Given the description of an element on the screen output the (x, y) to click on. 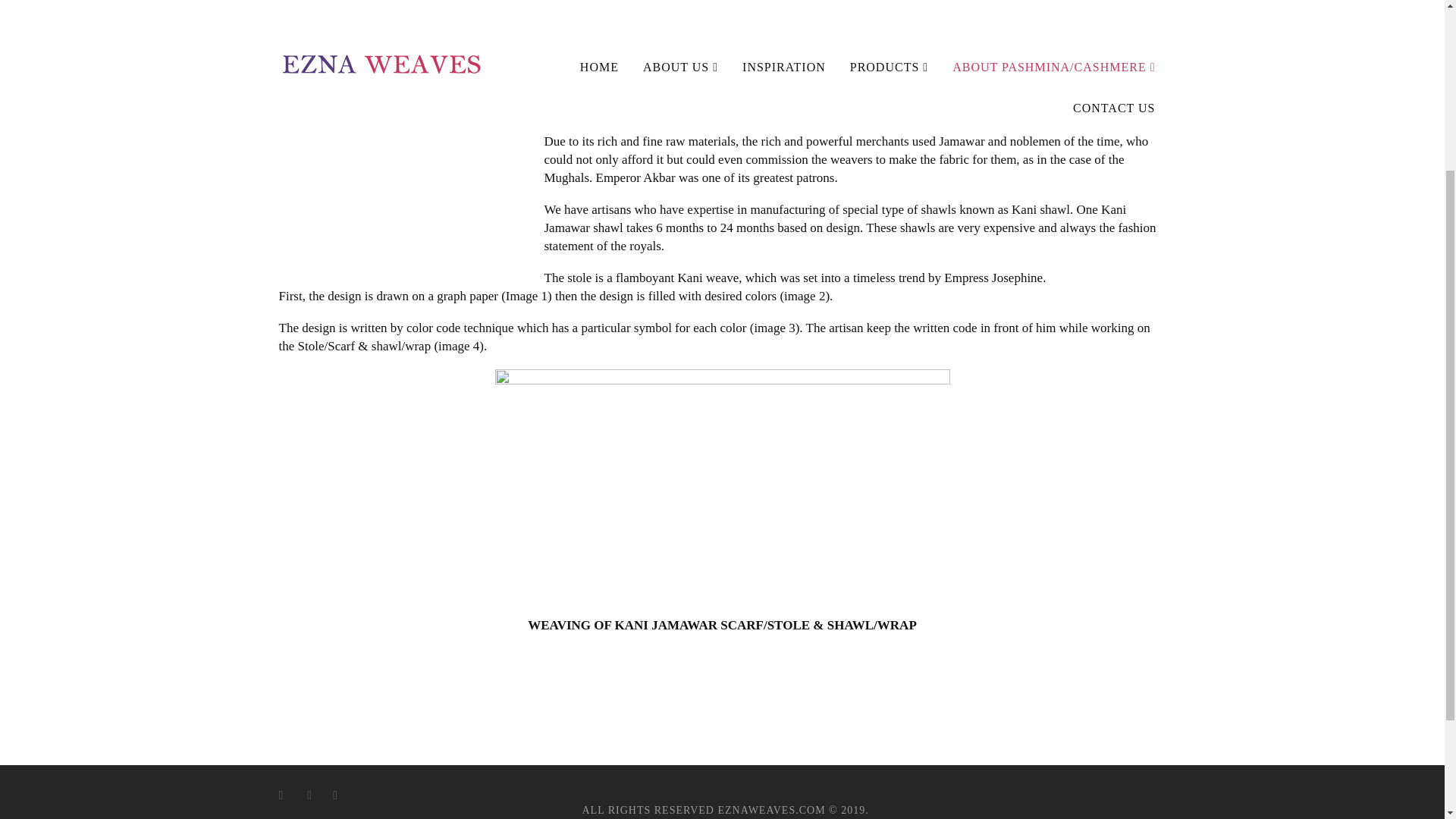
HOME (297, 12)
